Given the description of an element on the screen output the (x, y) to click on. 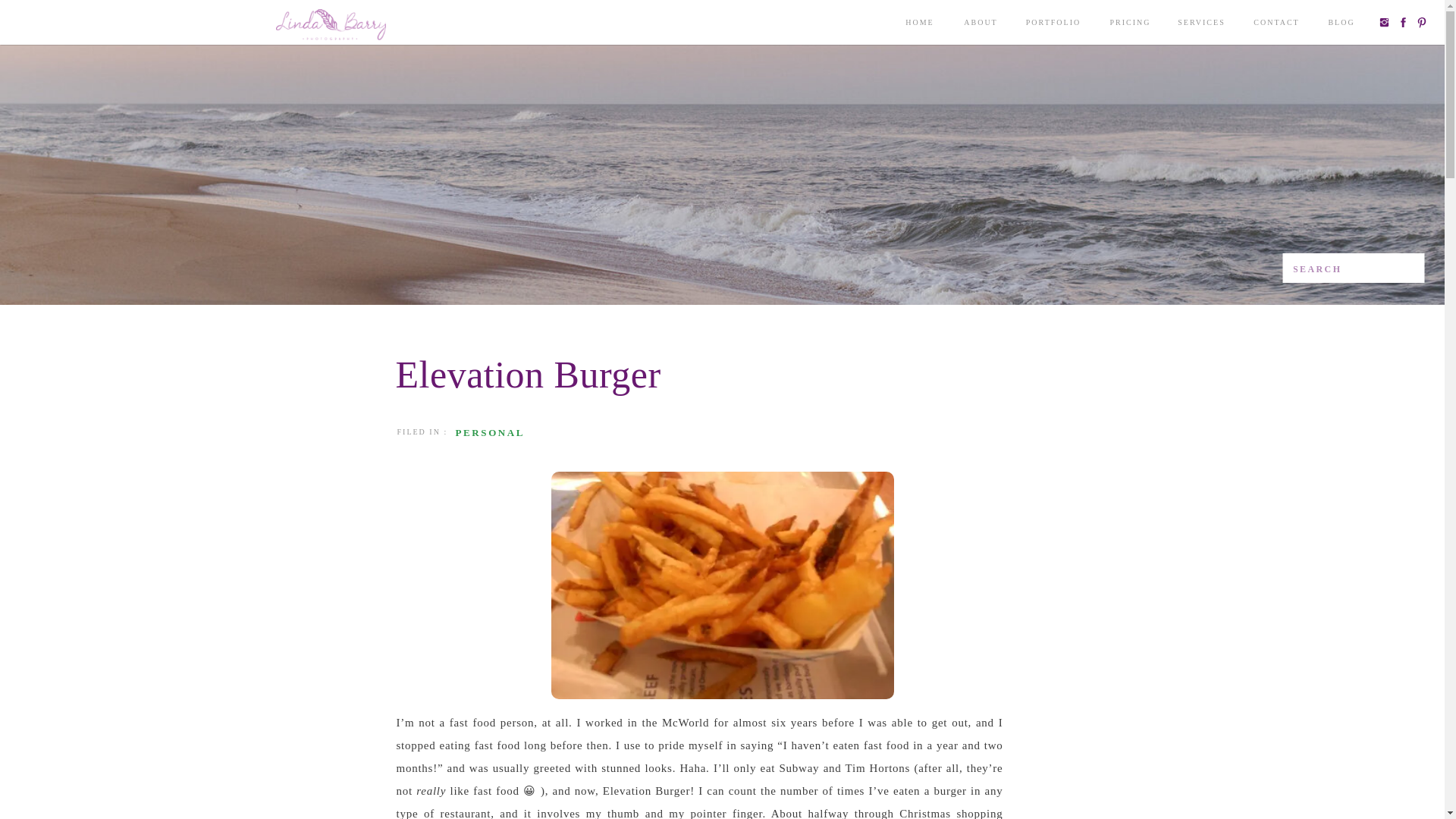
ABOUT (980, 25)
PERSONAL (489, 432)
HOME (919, 25)
PORTFOLIO (1053, 25)
BLOG (1341, 25)
CONTACT (1275, 25)
SERVICES (1200, 25)
PRICING (1130, 25)
